Given the description of an element on the screen output the (x, y) to click on. 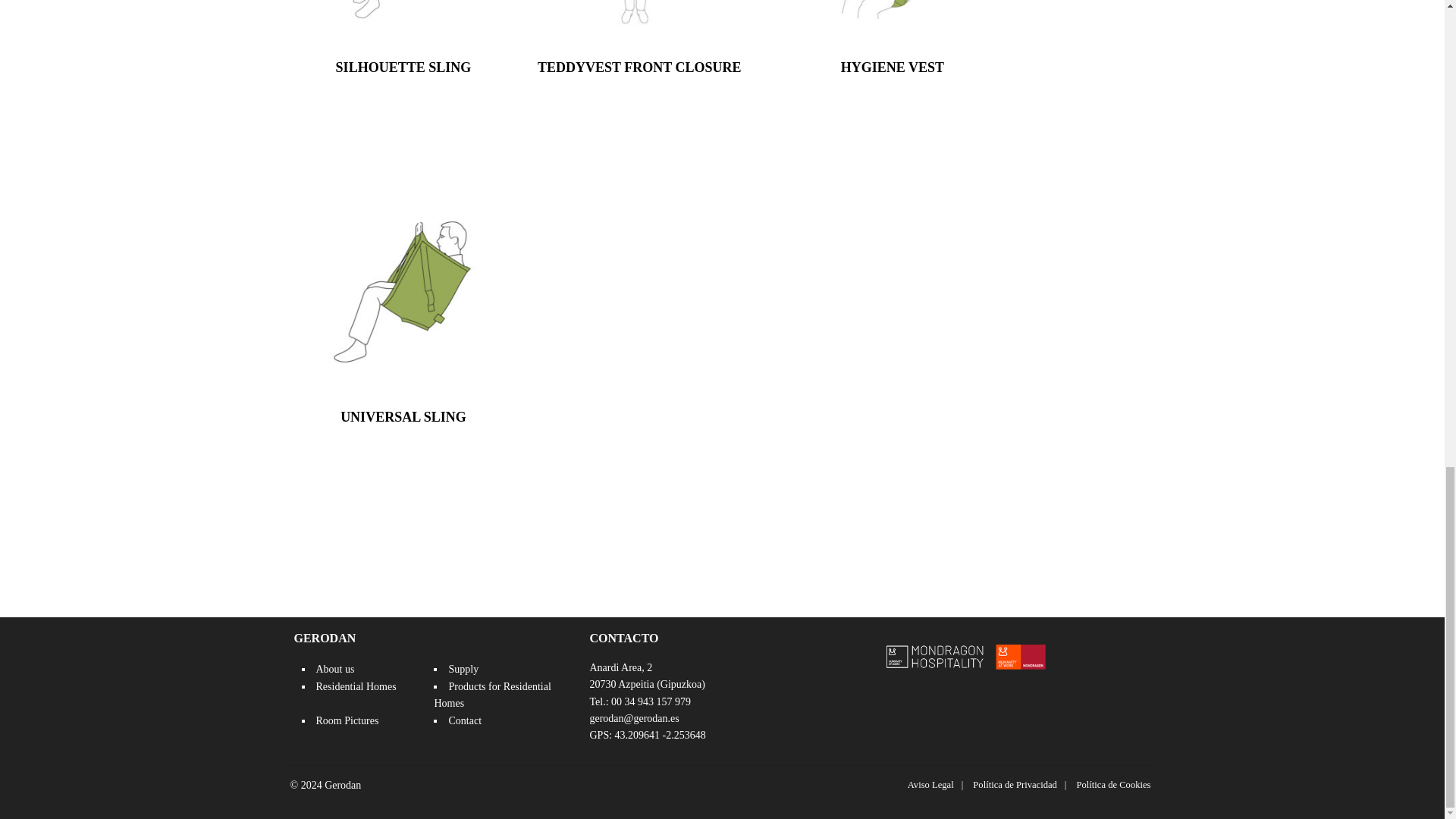
SILHOUETTE SLING (403, 67)
TEDDYVEST FRONT CLOSURE (639, 67)
